Given the description of an element on the screen output the (x, y) to click on. 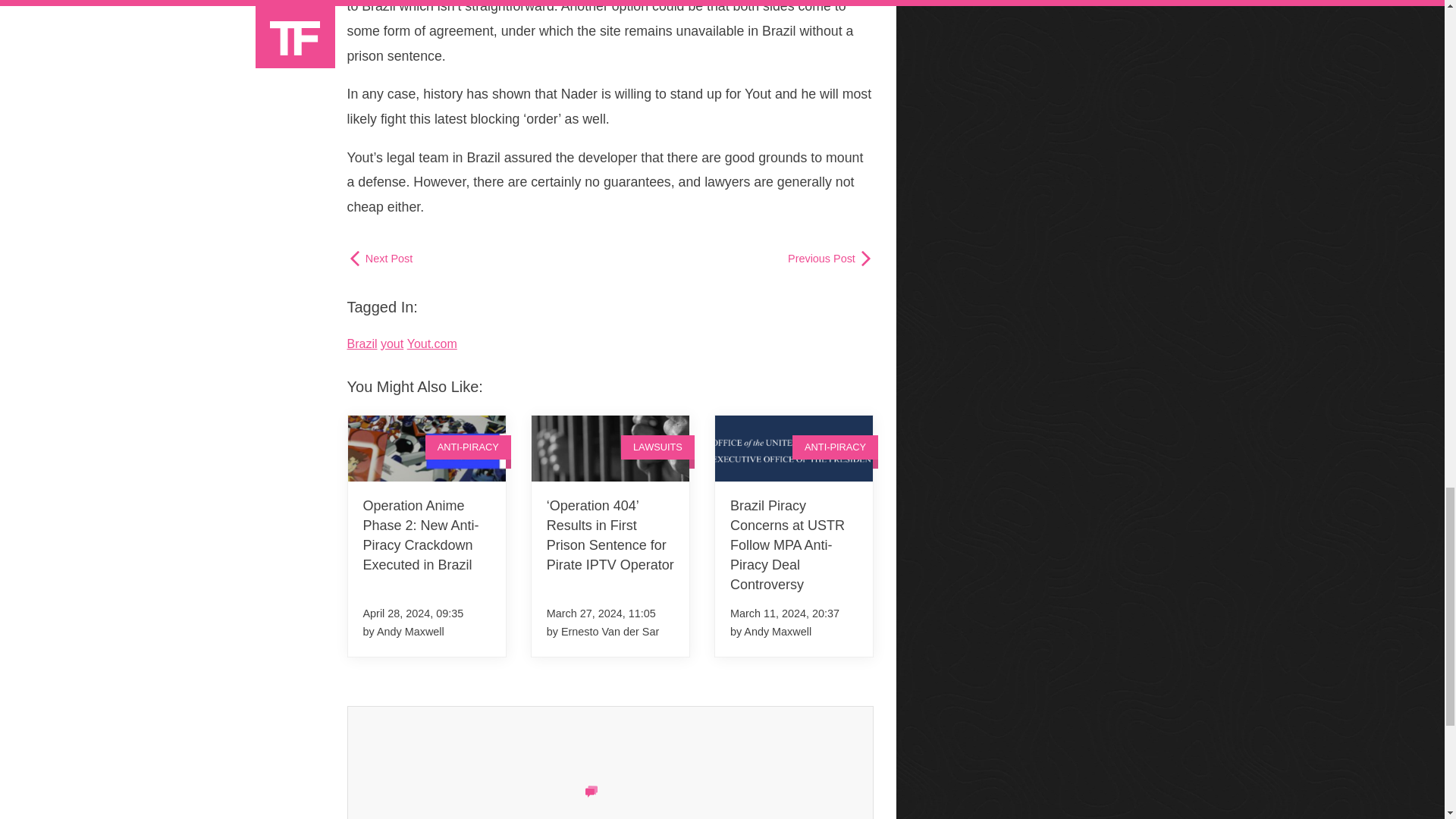
Brazil (362, 343)
Yout.com (432, 343)
Previous Post (830, 258)
Next Post (380, 258)
yout (391, 343)
